Given the description of an element on the screen output the (x, y) to click on. 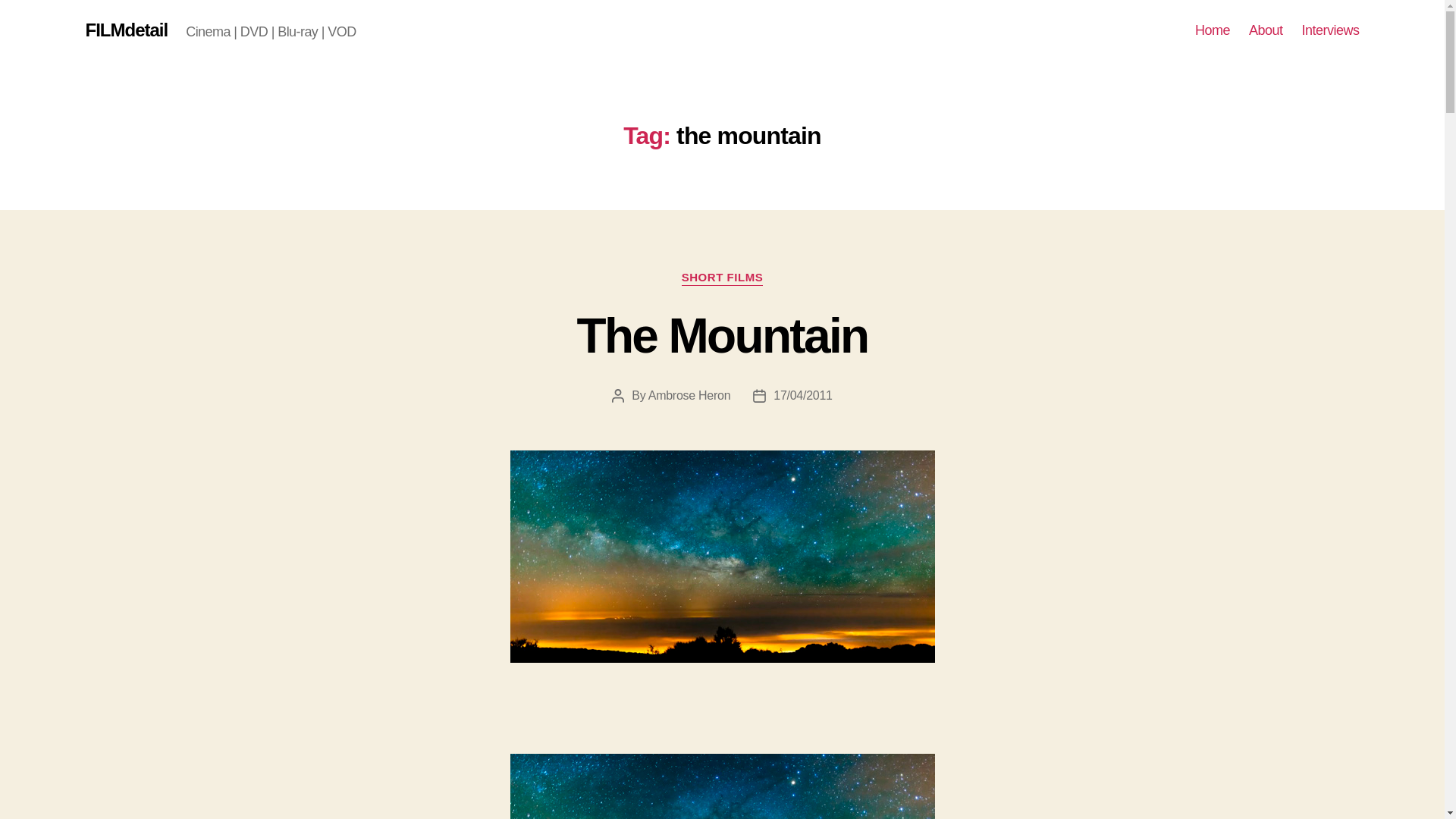
Interviews (1329, 30)
FILMdetail (125, 30)
SHORT FILMS (721, 278)
Ambrose Heron (688, 395)
Home (1212, 30)
The Mountain (721, 335)
About (1265, 30)
The Mountain by Terje Sorgjerd (721, 786)
